Given the description of an element on the screen output the (x, y) to click on. 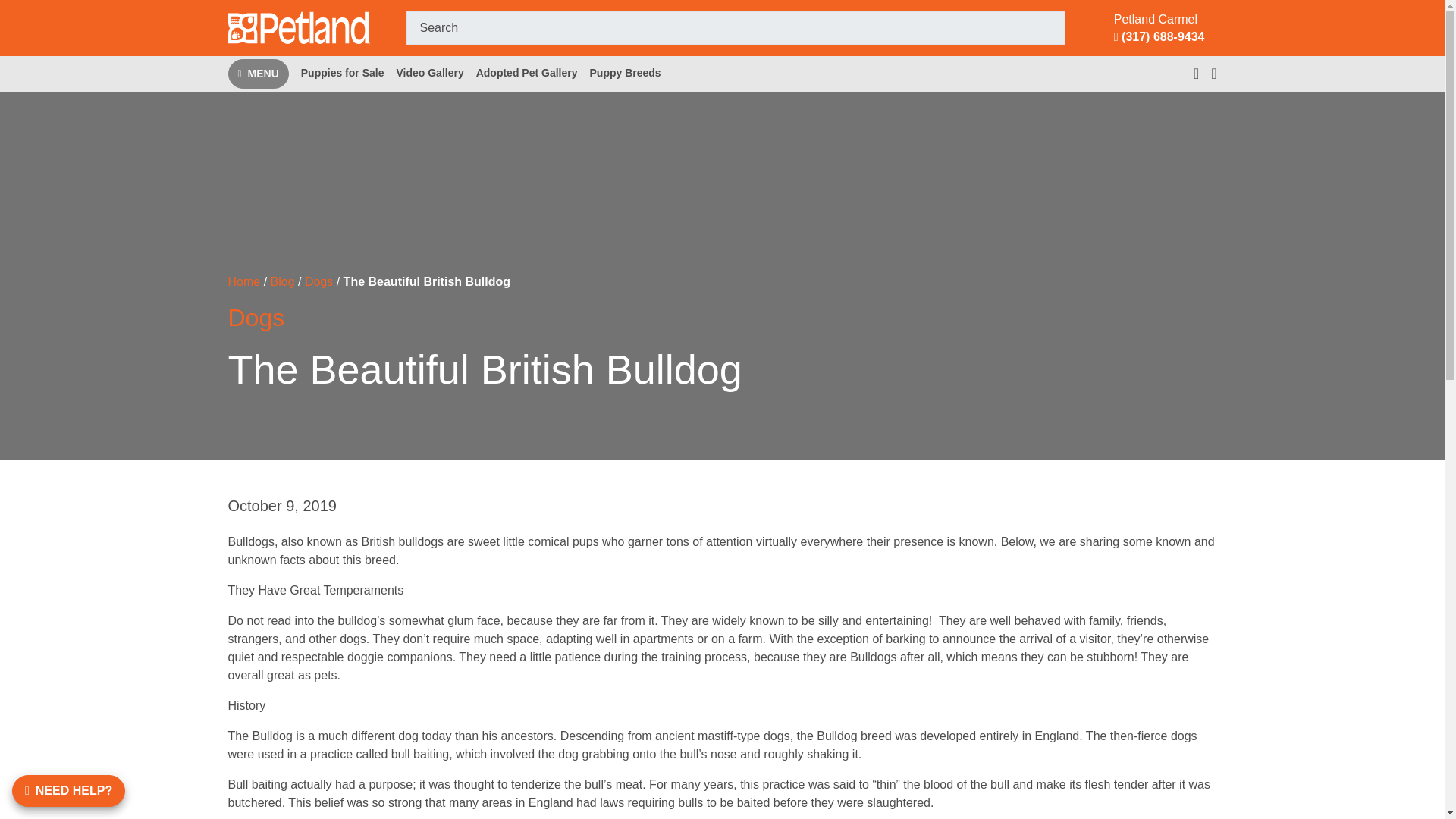
MENU (257, 73)
